Given the description of an element on the screen output the (x, y) to click on. 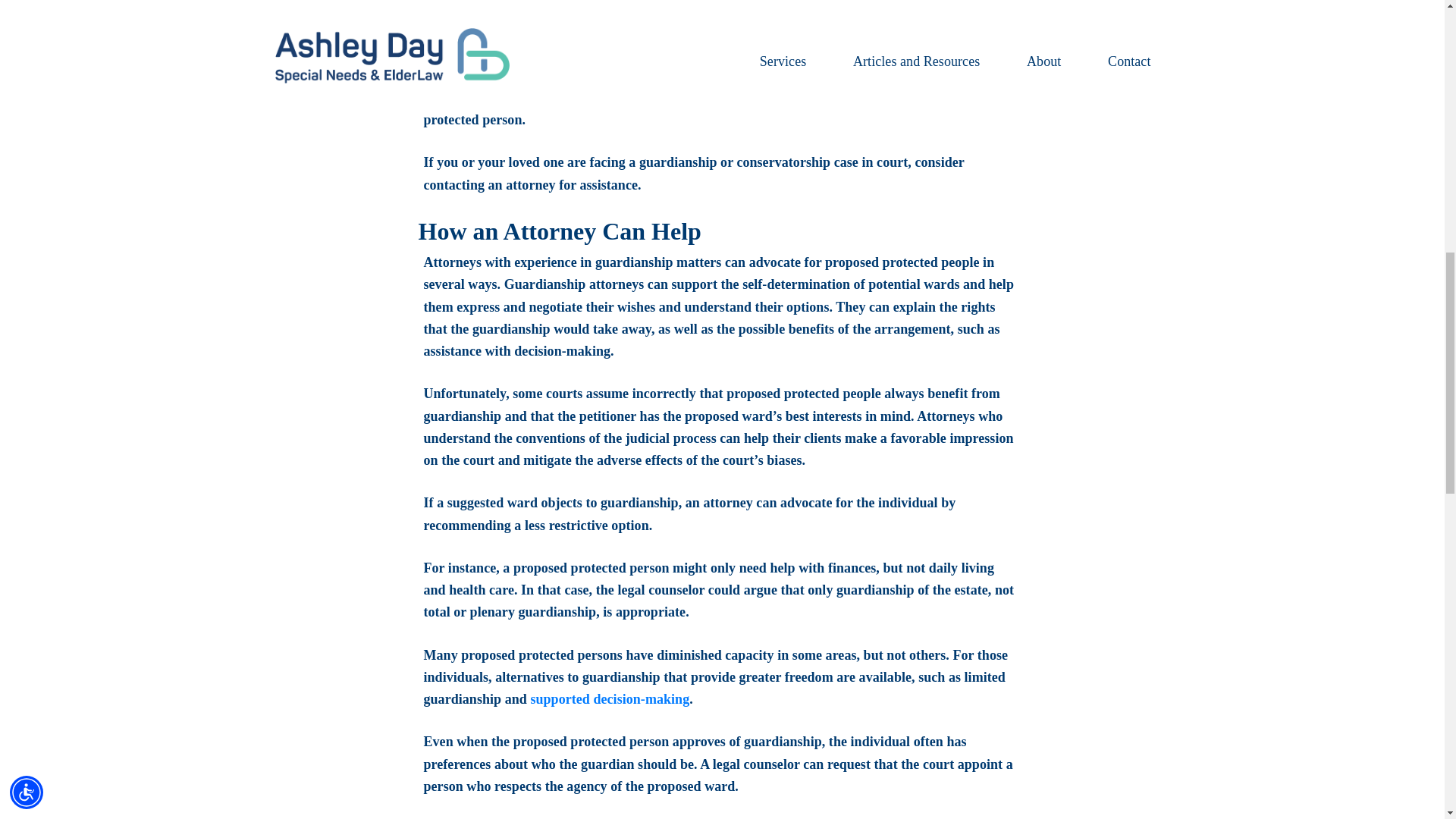
supported decision-making (608, 698)
